Given the description of an element on the screen output the (x, y) to click on. 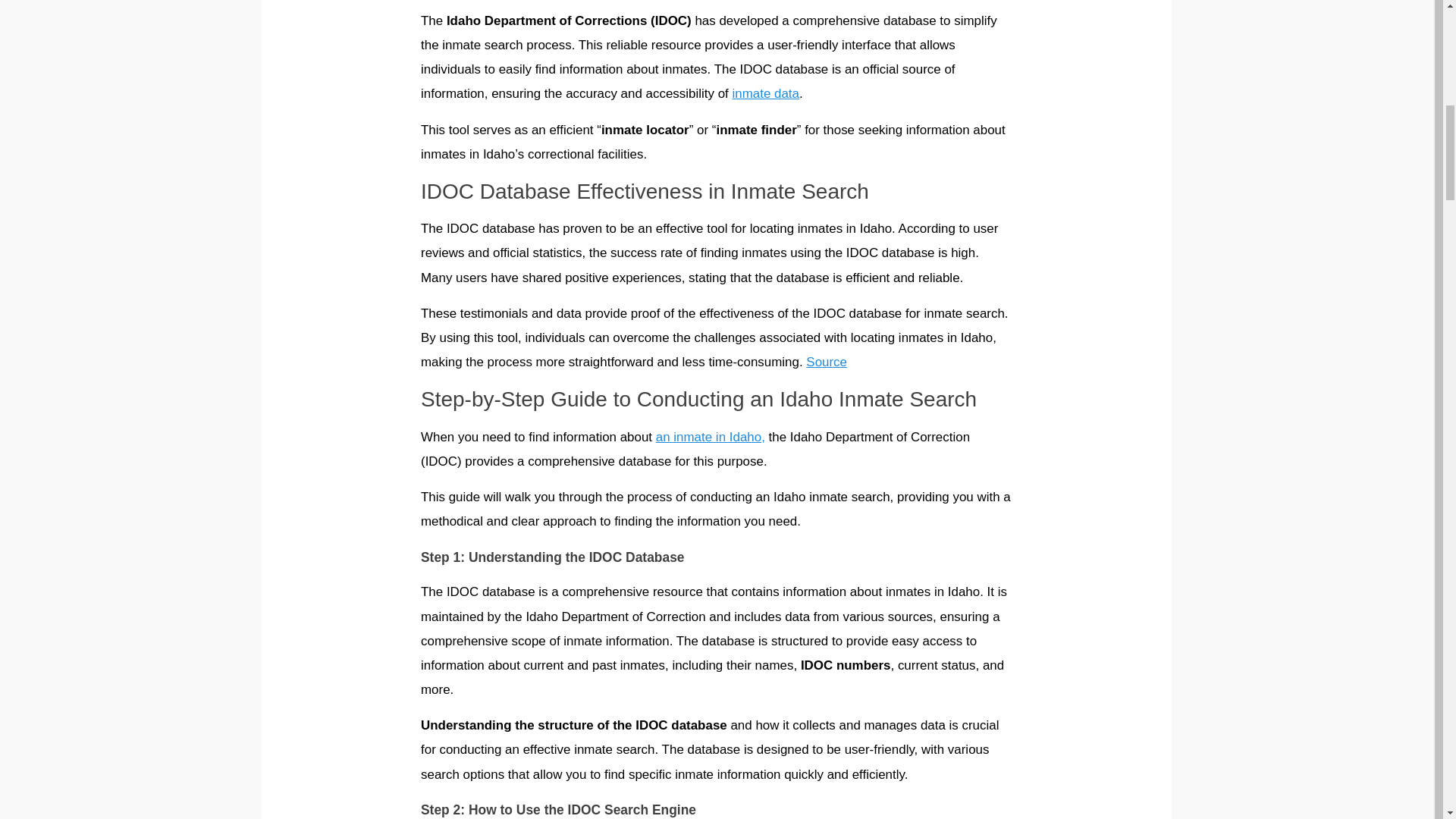
Source (826, 361)
an inmate in Idaho, (710, 436)
inmate data (765, 93)
